Given the description of an element on the screen output the (x, y) to click on. 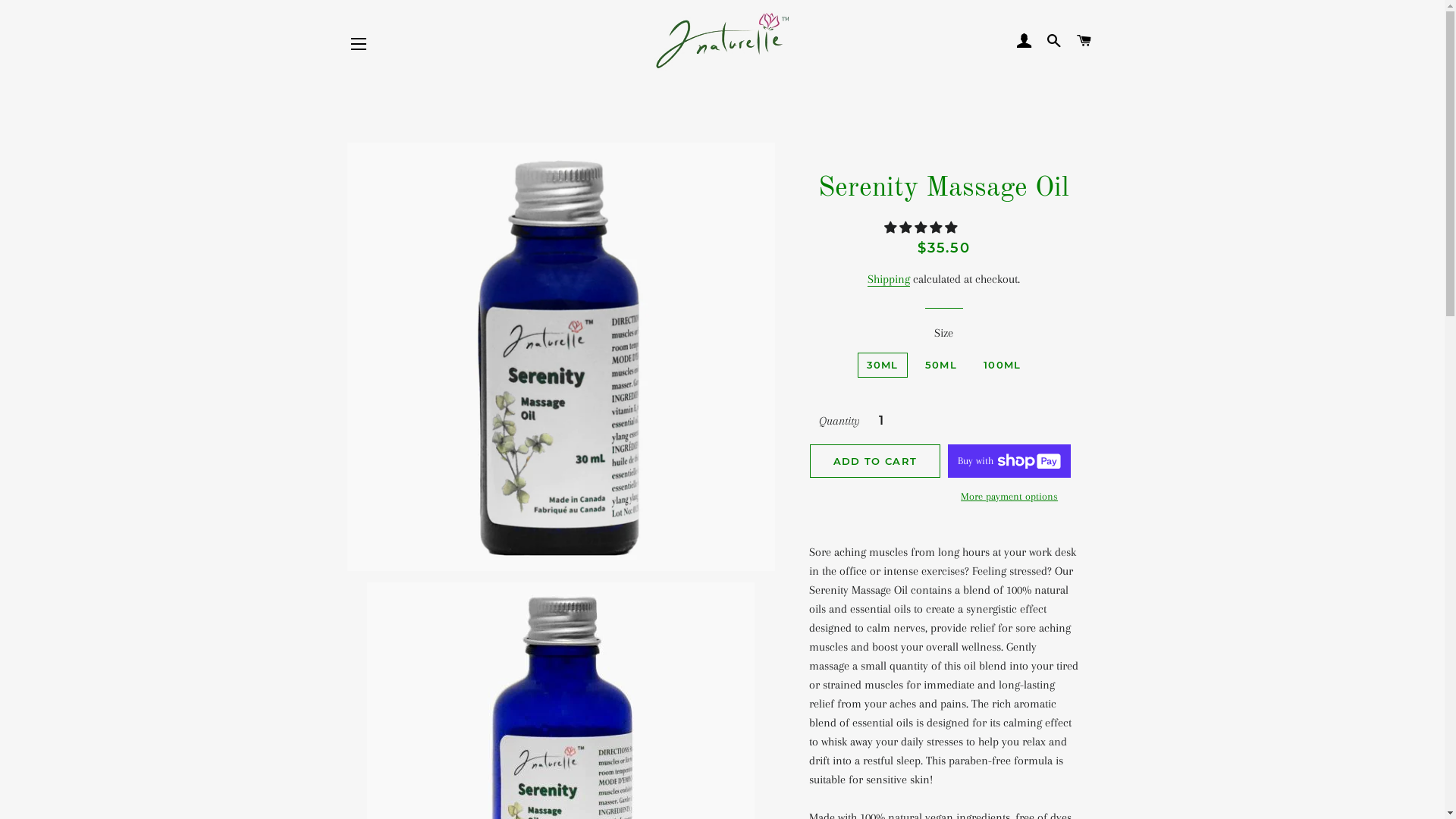
CART Element type: text (1083, 40)
More payment options Element type: text (1008, 496)
ADD TO CART Element type: text (874, 460)
LOG IN Element type: text (1023, 40)
SEARCH Element type: text (1054, 40)
Shipping Element type: text (888, 279)
SITE NAVIGATION Element type: text (358, 43)
